Given the description of an element on the screen output the (x, y) to click on. 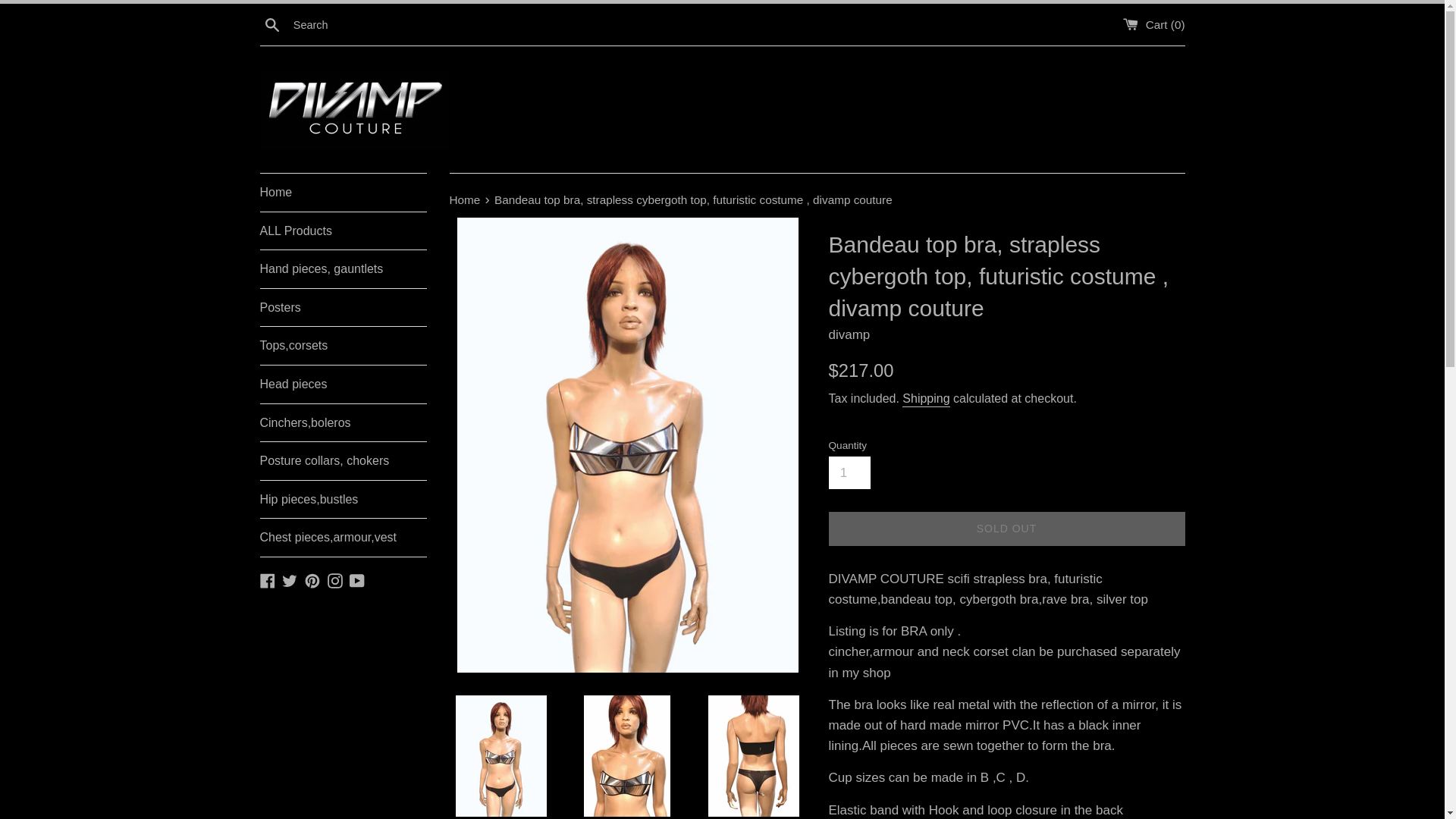
Hand pieces, gauntlets (342, 269)
Facebook (267, 580)
Twitter (289, 580)
Instagram (334, 580)
SOLD OUT (1006, 528)
Home (342, 192)
Head pieces (342, 384)
Shipping (925, 399)
divamp on Pinterest (312, 580)
Chest pieces,armour,vest (342, 537)
divamp on Twitter (289, 580)
Posture collars, chokers (342, 460)
Cinchers,boleros (342, 423)
Tops,corsets (342, 345)
Hip pieces,bustles (342, 499)
